Given the description of an element on the screen output the (x, y) to click on. 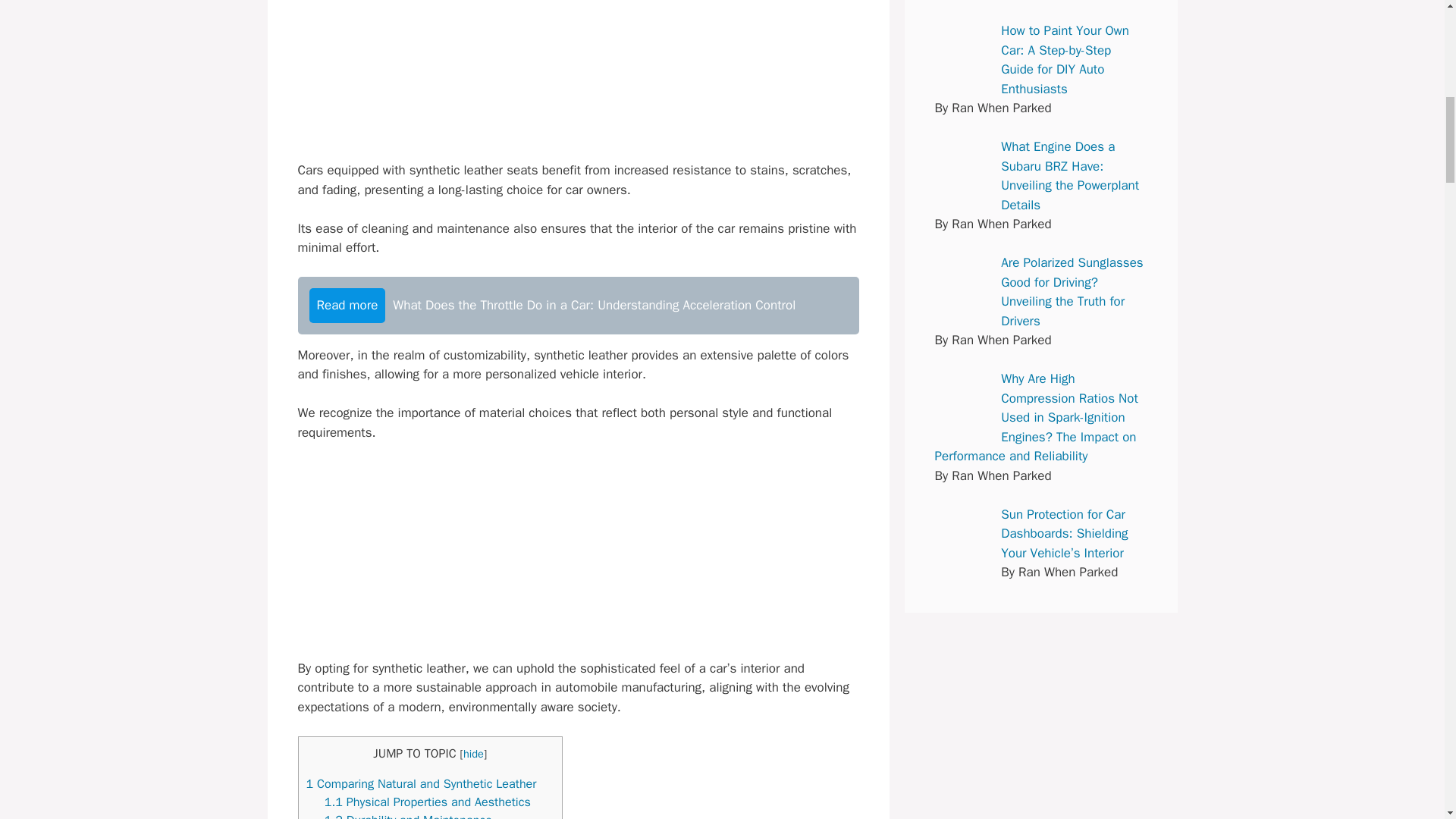
1.2 Durability and Maintenance (408, 815)
1.1 Physical Properties and Aesthetics (427, 801)
hide (473, 753)
1 Comparing Natural and Synthetic Leather (421, 783)
